Given the description of an element on the screen output the (x, y) to click on. 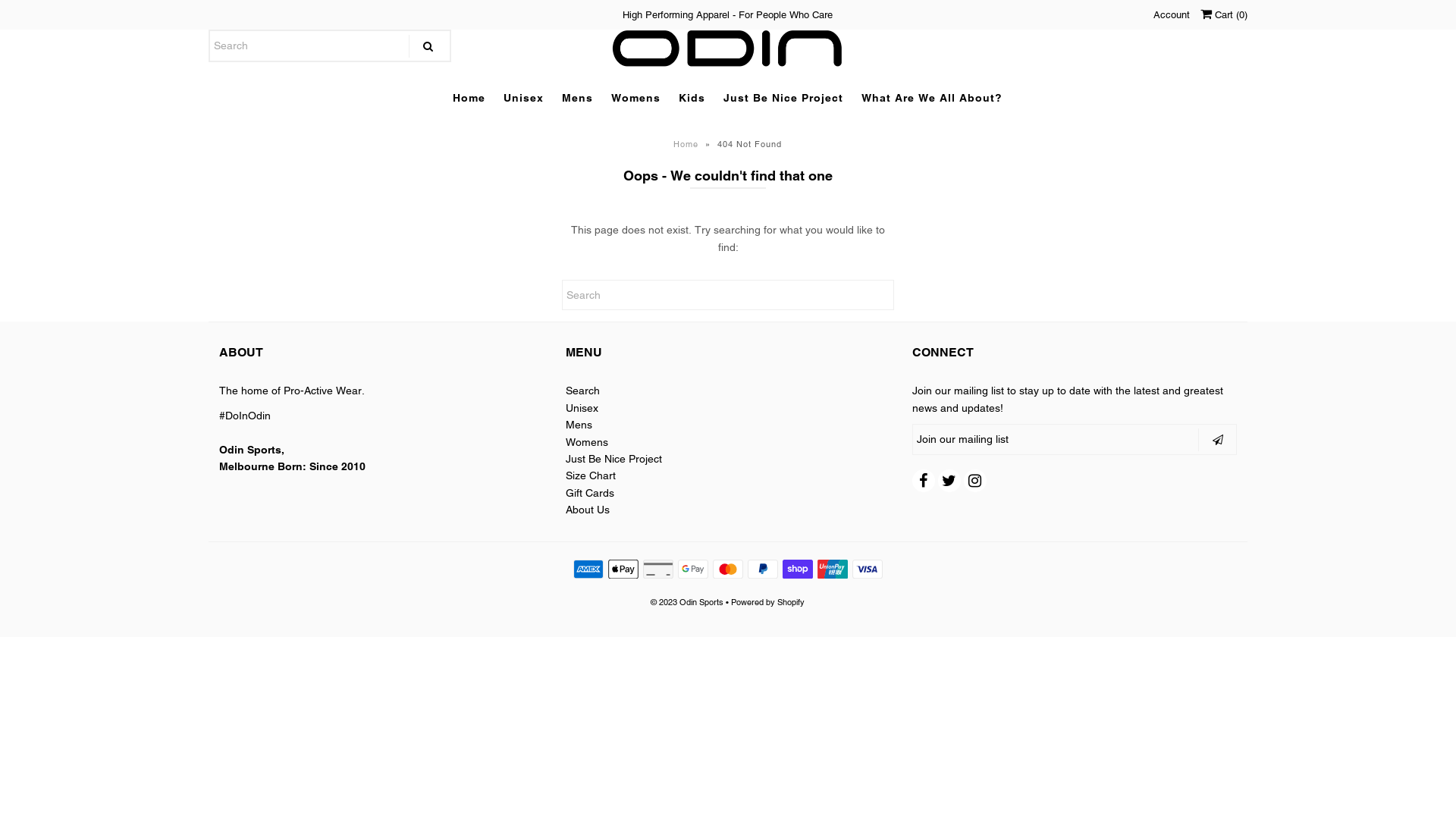
Womens Element type: text (586, 442)
Home Element type: text (687, 143)
Kids Element type: text (691, 97)
Just Be Nice Project Element type: text (613, 458)
Home Element type: text (468, 97)
Powered by Shopify Element type: text (767, 601)
About Us Element type: text (587, 509)
Search Element type: text (582, 390)
Gift Cards Element type: text (589, 492)
What Are We All About? Element type: text (931, 97)
The home of Pro-Active Wear. Element type: text (291, 390)
Unisex Element type: text (581, 407)
Mens Element type: text (578, 424)
Mens Element type: text (577, 97)
High Performing Apparel - For People Who Care Element type: text (727, 14)
Just Be Nice Project Element type: text (782, 97)
Account Element type: text (1171, 14)
Cart (0) Element type: text (1223, 14)
Unisex Element type: text (523, 97)
Womens Element type: text (635, 97)
Size Chart Element type: text (590, 475)
